Given the description of an element on the screen output the (x, y) to click on. 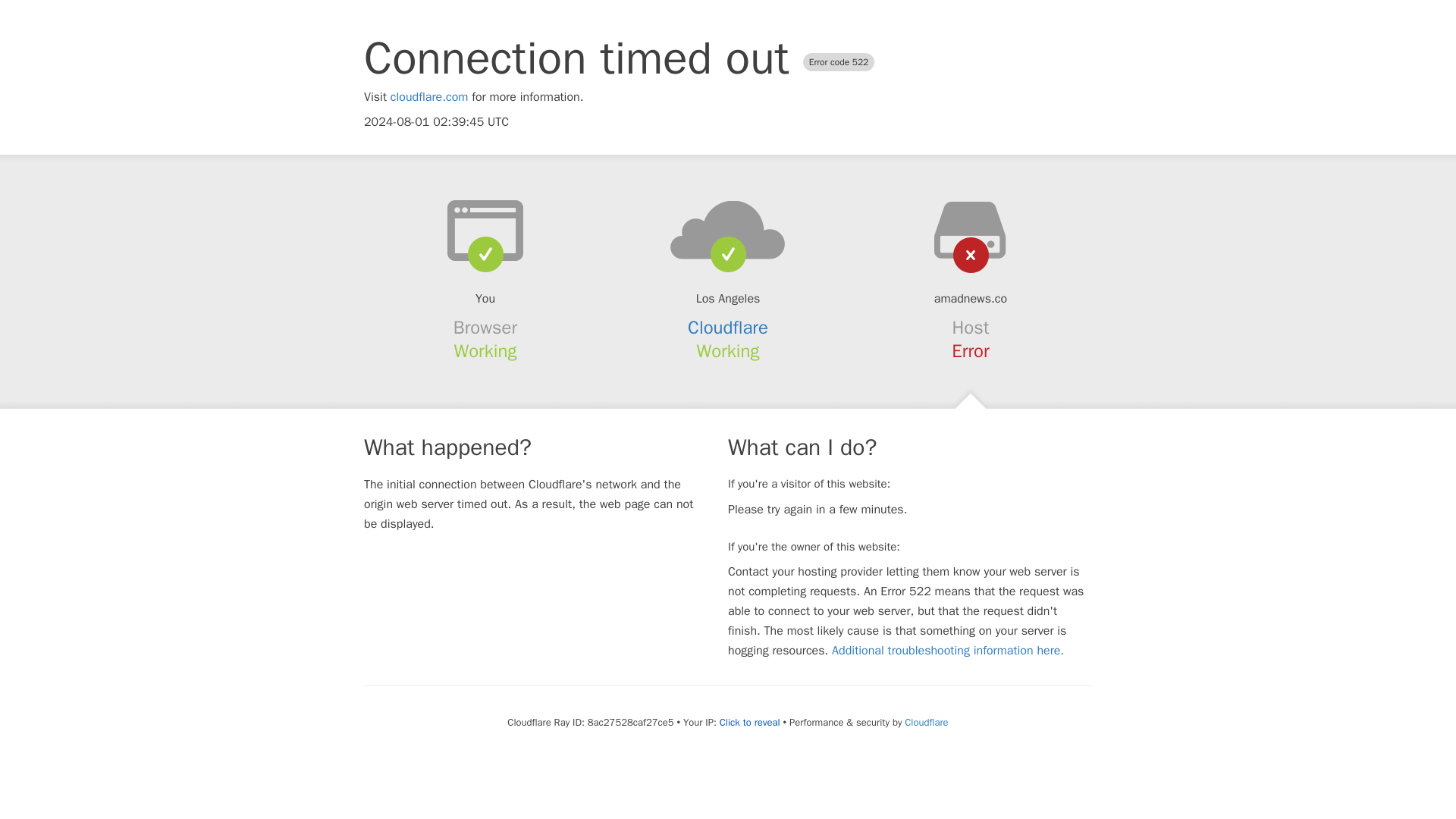
Additional troubleshooting information here. (947, 650)
Cloudflare (727, 327)
Cloudflare (925, 721)
Click to reveal (749, 722)
cloudflare.com (429, 96)
